Given the description of an element on the screen output the (x, y) to click on. 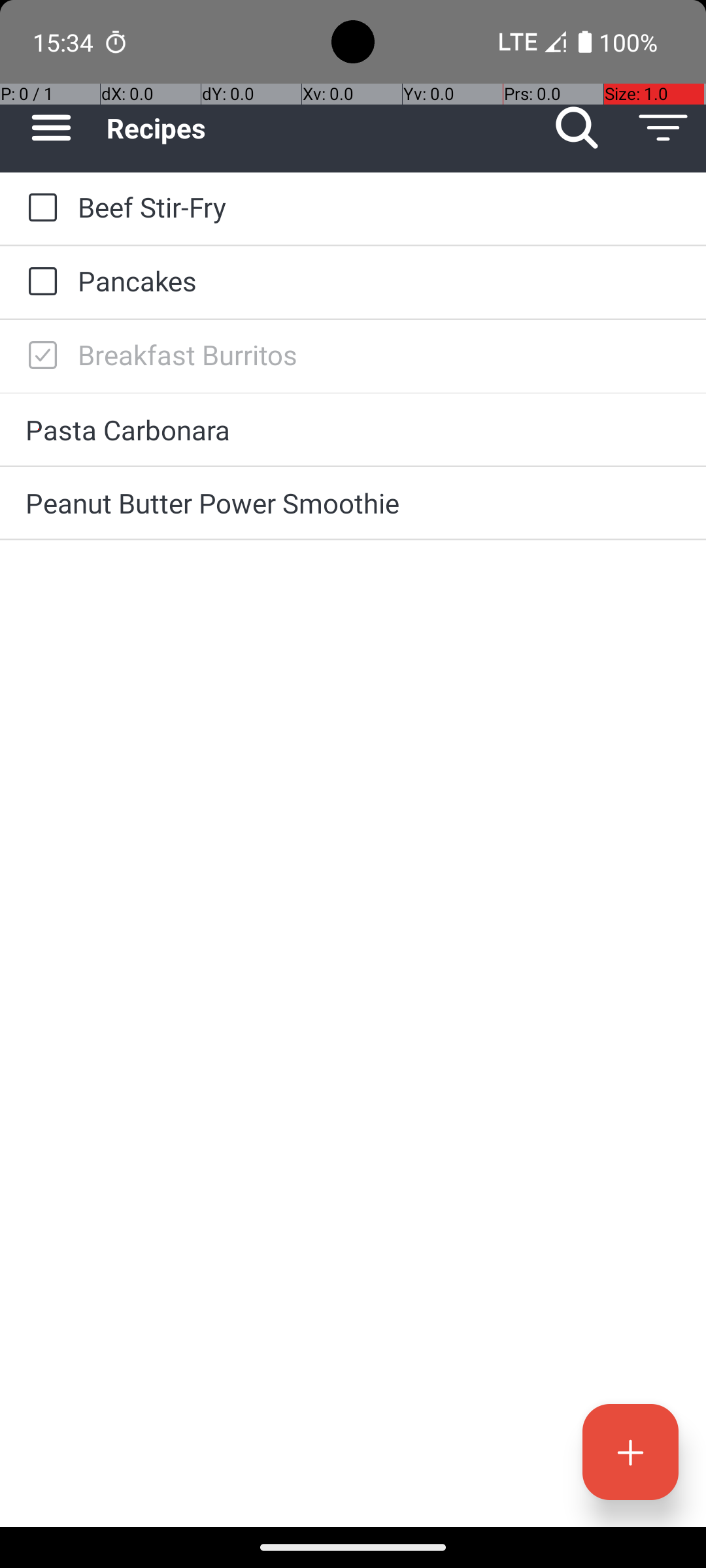
to-do: Beef Stir-Fry Element type: android.widget.CheckBox (38, 208)
Beef Stir-Fry Element type: android.widget.TextView (378, 206)
to-do: Pancakes Element type: android.widget.CheckBox (38, 282)
Pancakes Element type: android.widget.TextView (378, 280)
to-do: Breakfast Burritos Element type: android.widget.CheckBox (38, 356)
Breakfast Burritos Element type: android.widget.TextView (378, 354)
Pasta Carbonara Element type: android.widget.TextView (352, 429)
Peanut Butter Power Smoothie Element type: android.widget.TextView (352, 502)
